Given the description of an element on the screen output the (x, y) to click on. 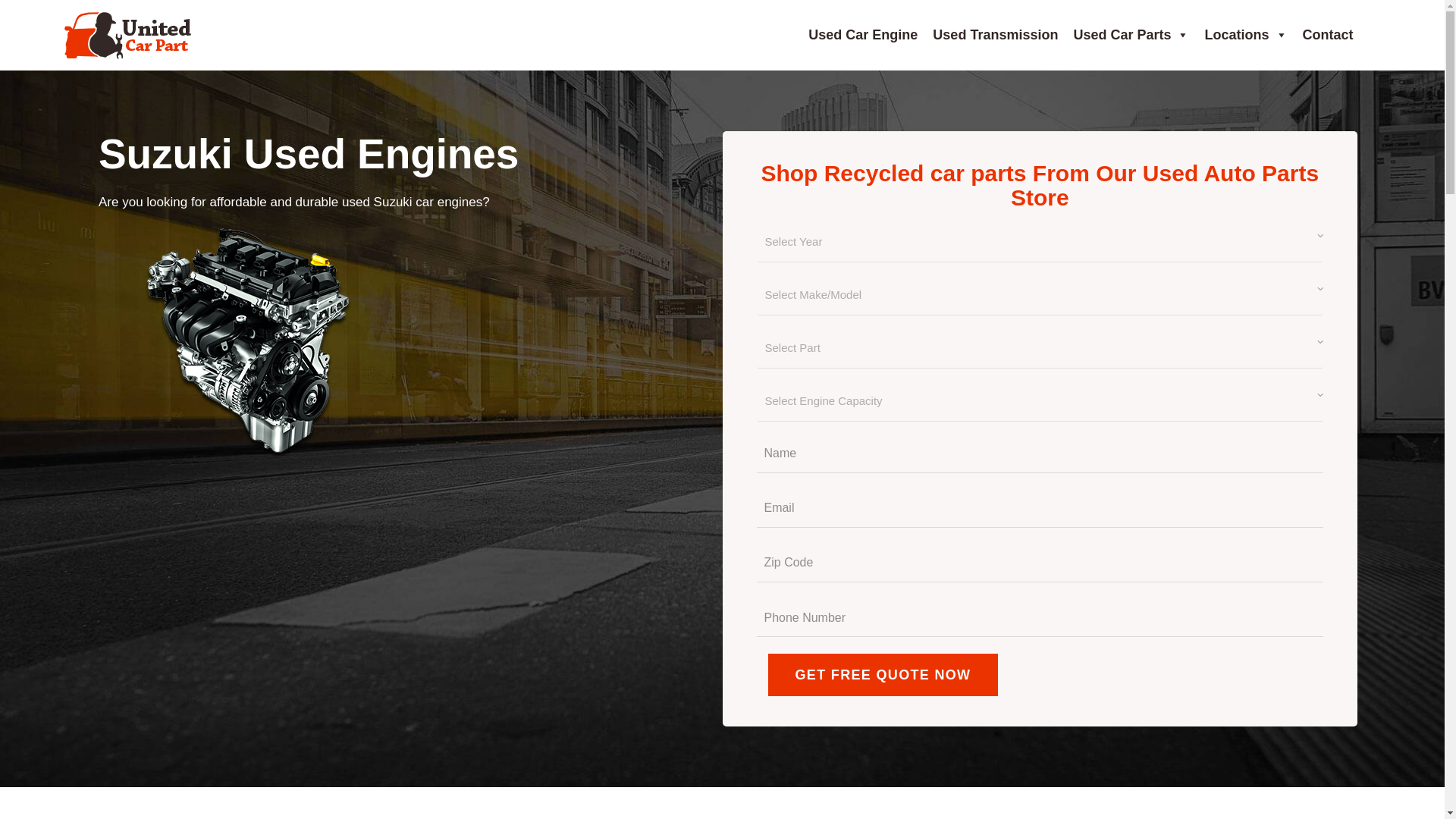
Used Transmission (994, 34)
Suzuki (248, 339)
Locations (1245, 34)
Get Free Quote Now (882, 674)
Used Car Parts (1130, 34)
Used Car Engine (862, 34)
